Given the description of an element on the screen output the (x, y) to click on. 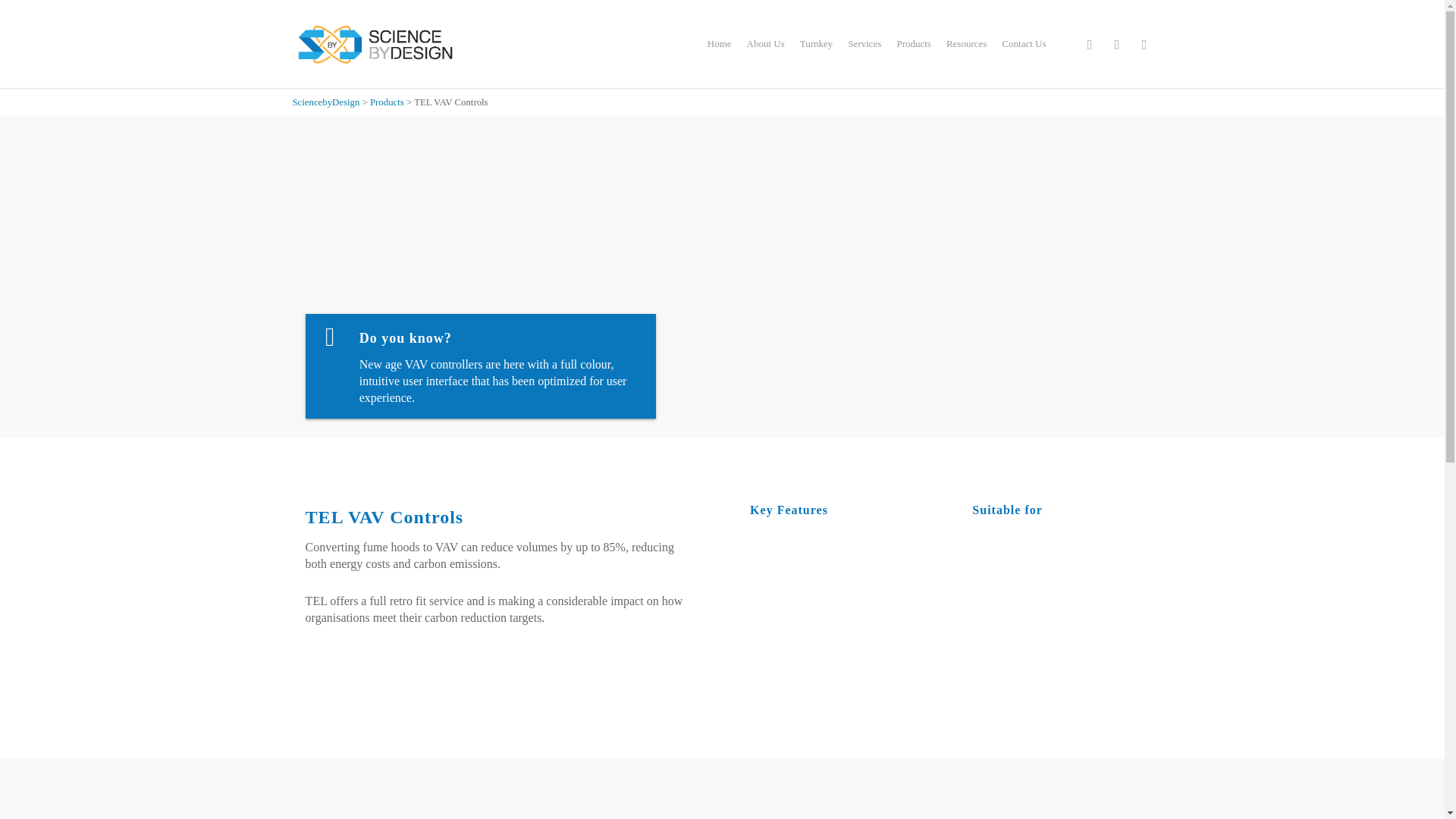
About Us (765, 43)
Turnkey (816, 43)
linkedin (1090, 44)
SciencebyDesign (325, 102)
Services (864, 43)
Go to SciencebyDesign. (325, 102)
Contact Us (1023, 43)
Products (386, 102)
phone (1117, 44)
Products (913, 43)
